Given the description of an element on the screen output the (x, y) to click on. 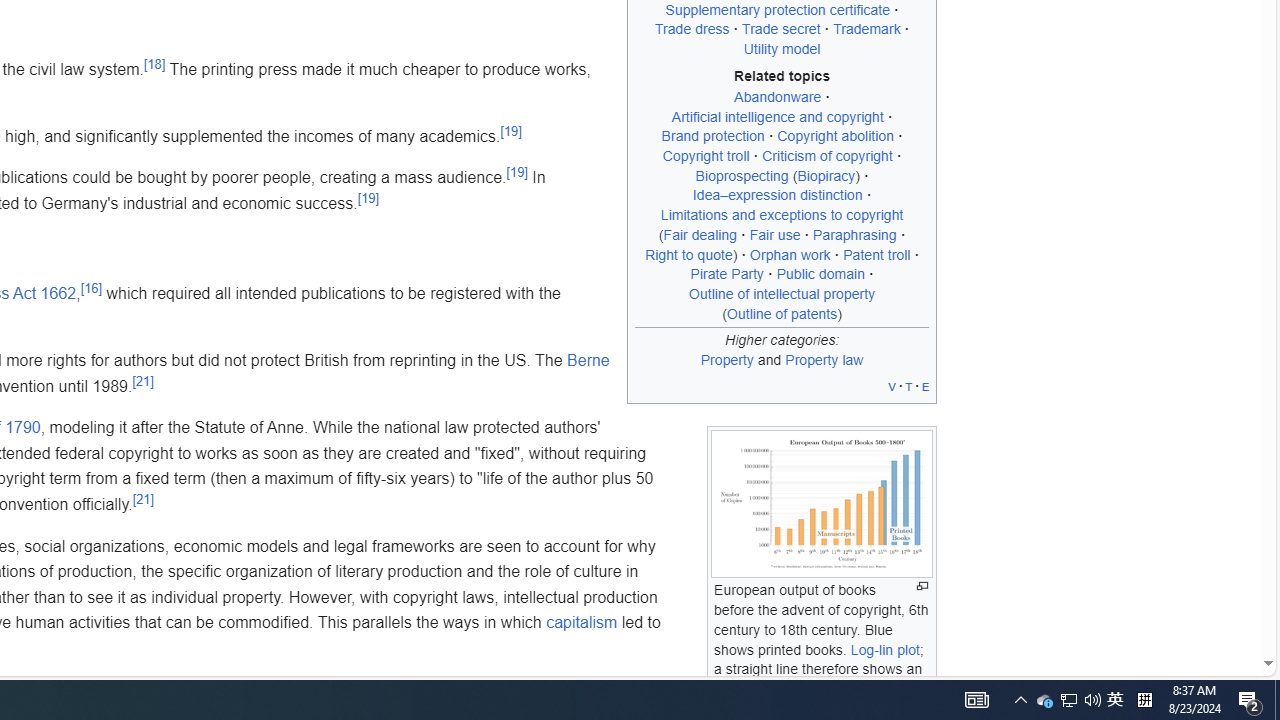
Artificial intelligence and copyright (777, 116)
Abandonware (777, 96)
Outline of intellectual property (Outline of patents) (781, 303)
Utility model (781, 49)
Trade dress (691, 29)
Class: mw-file-element (821, 503)
Right to quote (689, 254)
Trade secret (781, 29)
